Given the description of an element on the screen output the (x, y) to click on. 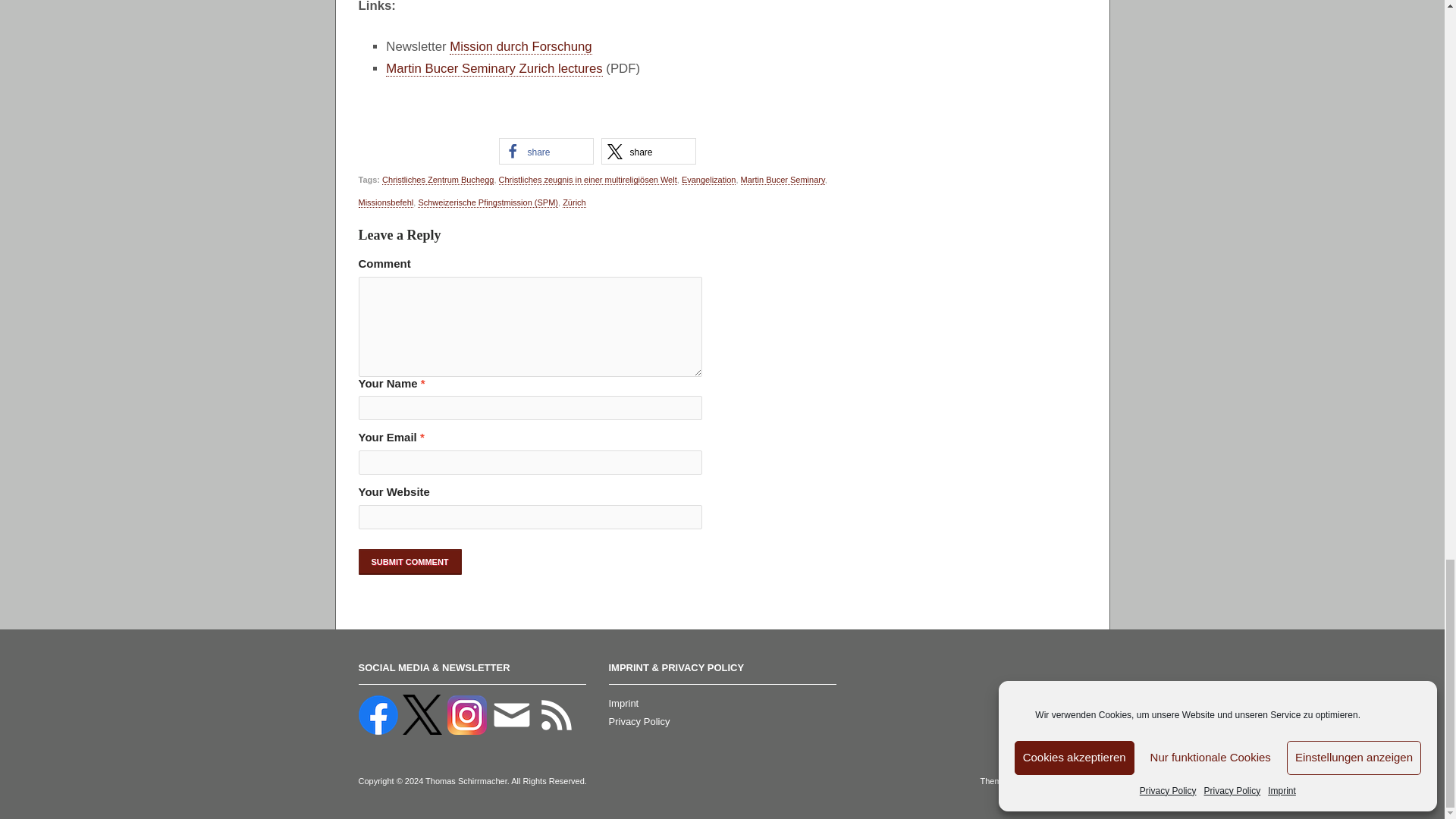
Share on Facebook (546, 151)
ProMundis Newsletter (513, 713)
Privacy Policy (638, 721)
ProMundis Blog RSS (557, 713)
Thomas Schirrmacher at twitter (423, 713)
Share on X (647, 151)
Thomas Paul Schirrmacher on Facebook (378, 713)
Imprint (623, 703)
Thomas Schirrmacher on Instagram (467, 713)
Submit Comment (409, 561)
